Given the description of an element on the screen output the (x, y) to click on. 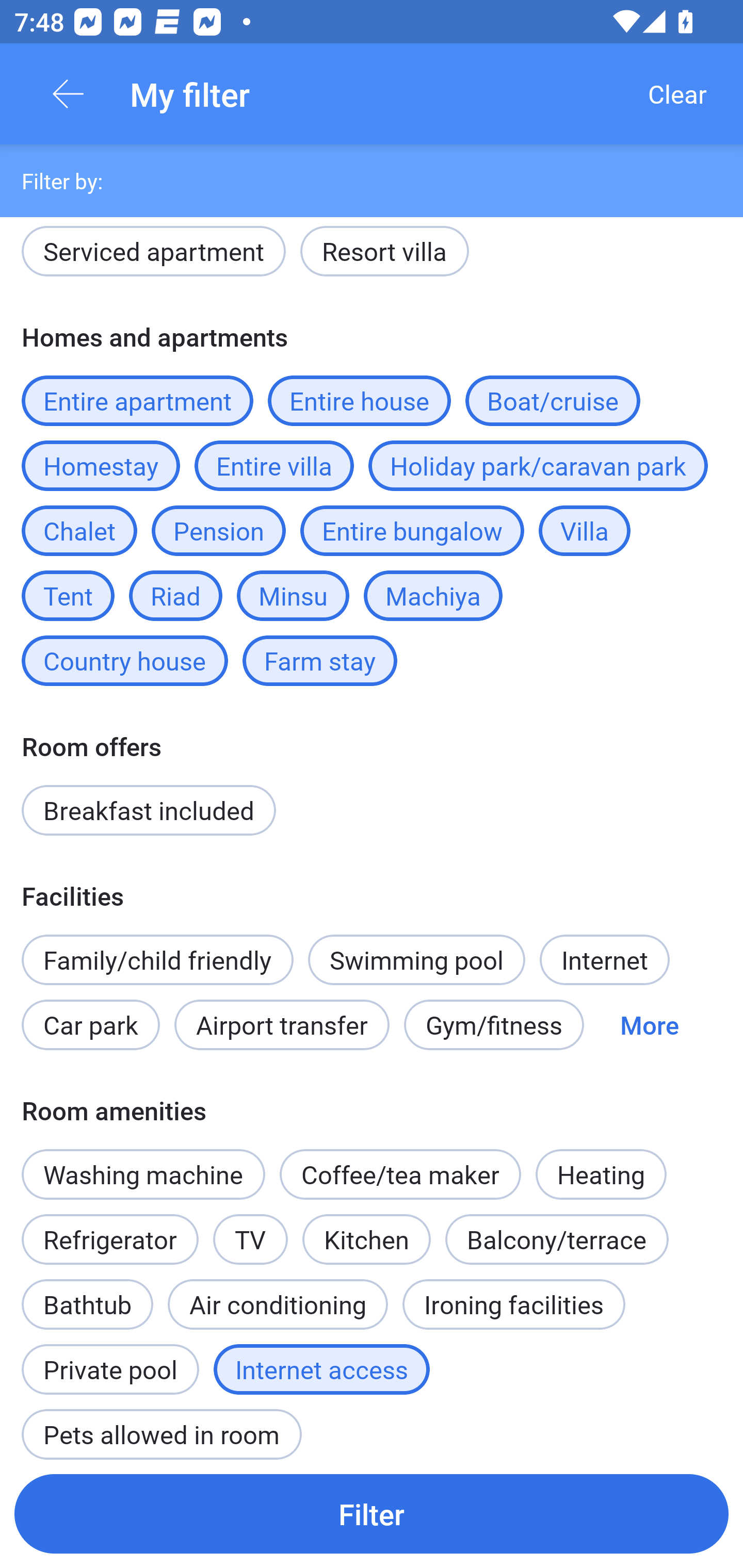
Clear (676, 93)
Serviced apartment (153, 255)
Resort villa (384, 255)
Breakfast included (148, 809)
Family/child friendly (157, 960)
Swimming pool (416, 960)
Internet (604, 960)
Car park (90, 1024)
Airport transfer (281, 1024)
Gym/fitness (493, 1024)
More (649, 1024)
Washing machine (143, 1174)
Coffee/tea maker (399, 1174)
Heating (600, 1163)
Refrigerator (109, 1239)
TV (250, 1228)
Kitchen (366, 1239)
Balcony/terrace (556, 1239)
Bathtub (87, 1293)
Air conditioning (277, 1304)
Ironing facilities (513, 1304)
Private pool (110, 1358)
Pets allowed in room (161, 1424)
Filter (371, 1513)
